Given the description of an element on the screen output the (x, y) to click on. 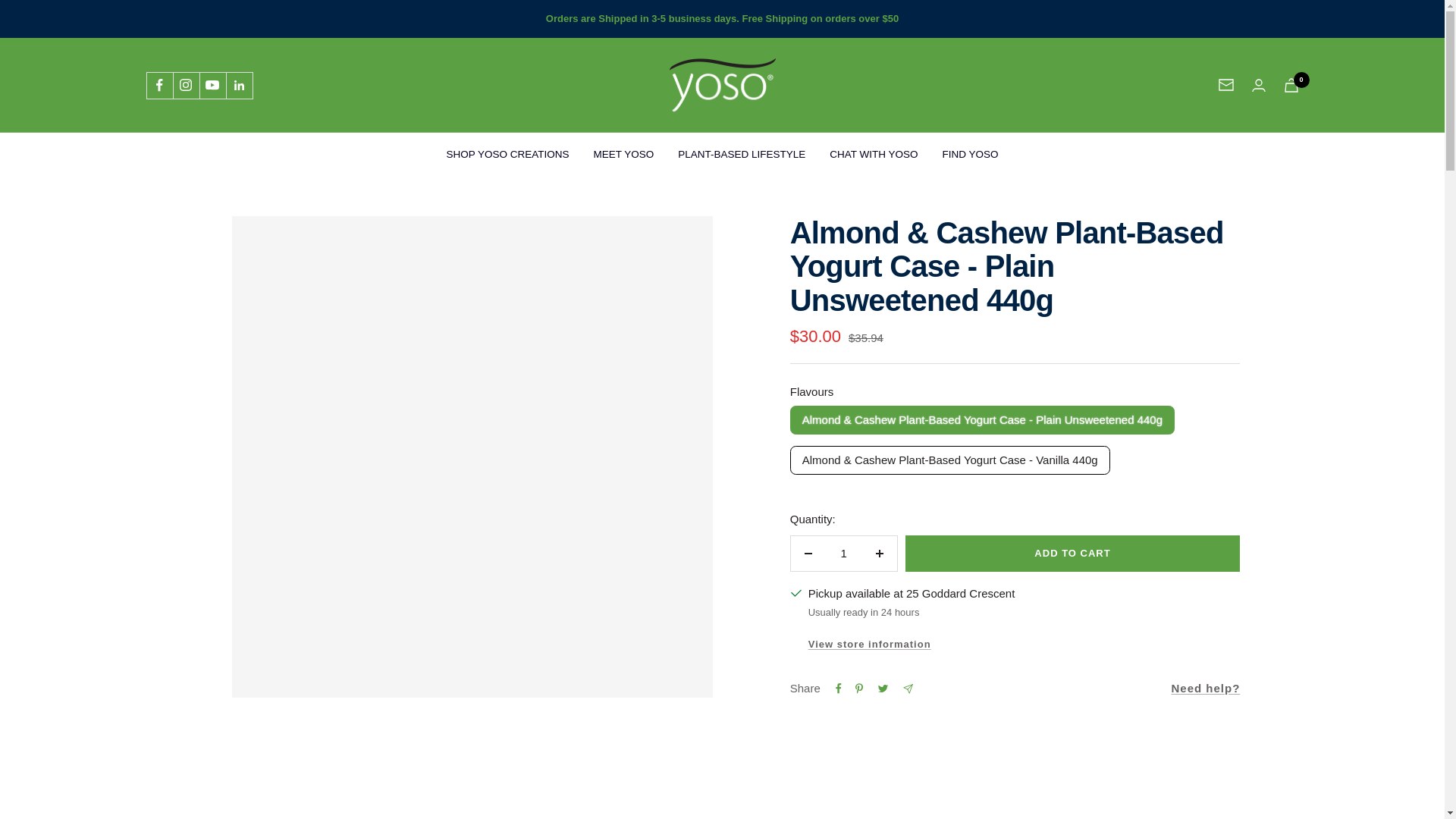
0 (1290, 84)
YOSO Plant Based Foods (721, 85)
1 (843, 553)
Newsletter (1225, 84)
PLANT-BASED LIFESTYLE (741, 153)
Probiotics Canada - YOSO (721, 85)
MEET YOSO (622, 153)
FIND YOSO (970, 153)
CHAT WITH YOSO (873, 153)
SHOP YOSO CREATIONS (507, 153)
